Given the description of an element on the screen output the (x, y) to click on. 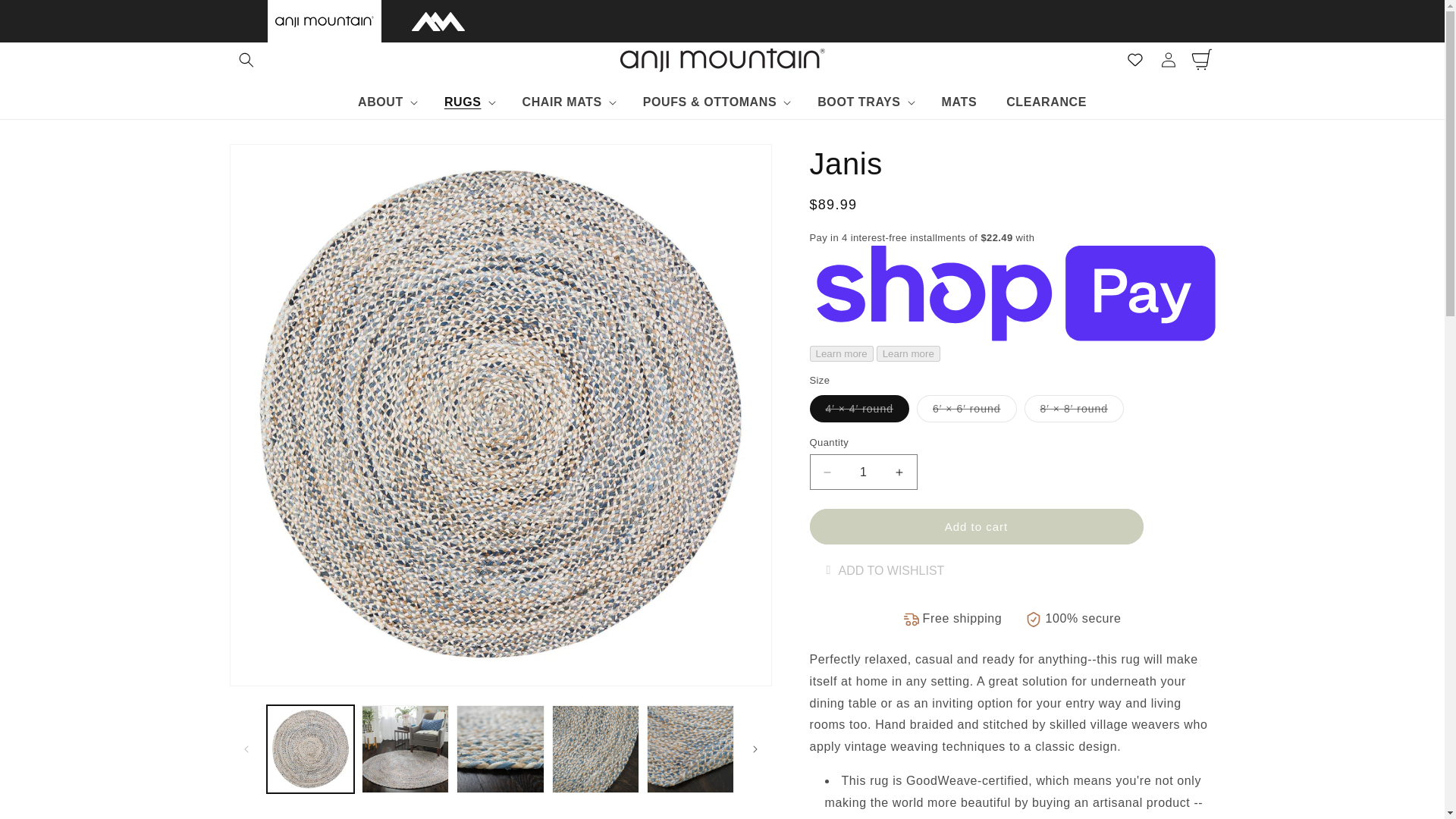
Skip to content (45, 17)
Anji Mountain (323, 20)
AnjiMTX (437, 20)
Cart (1201, 59)
1 (863, 471)
